Given the description of an element on the screen output the (x, y) to click on. 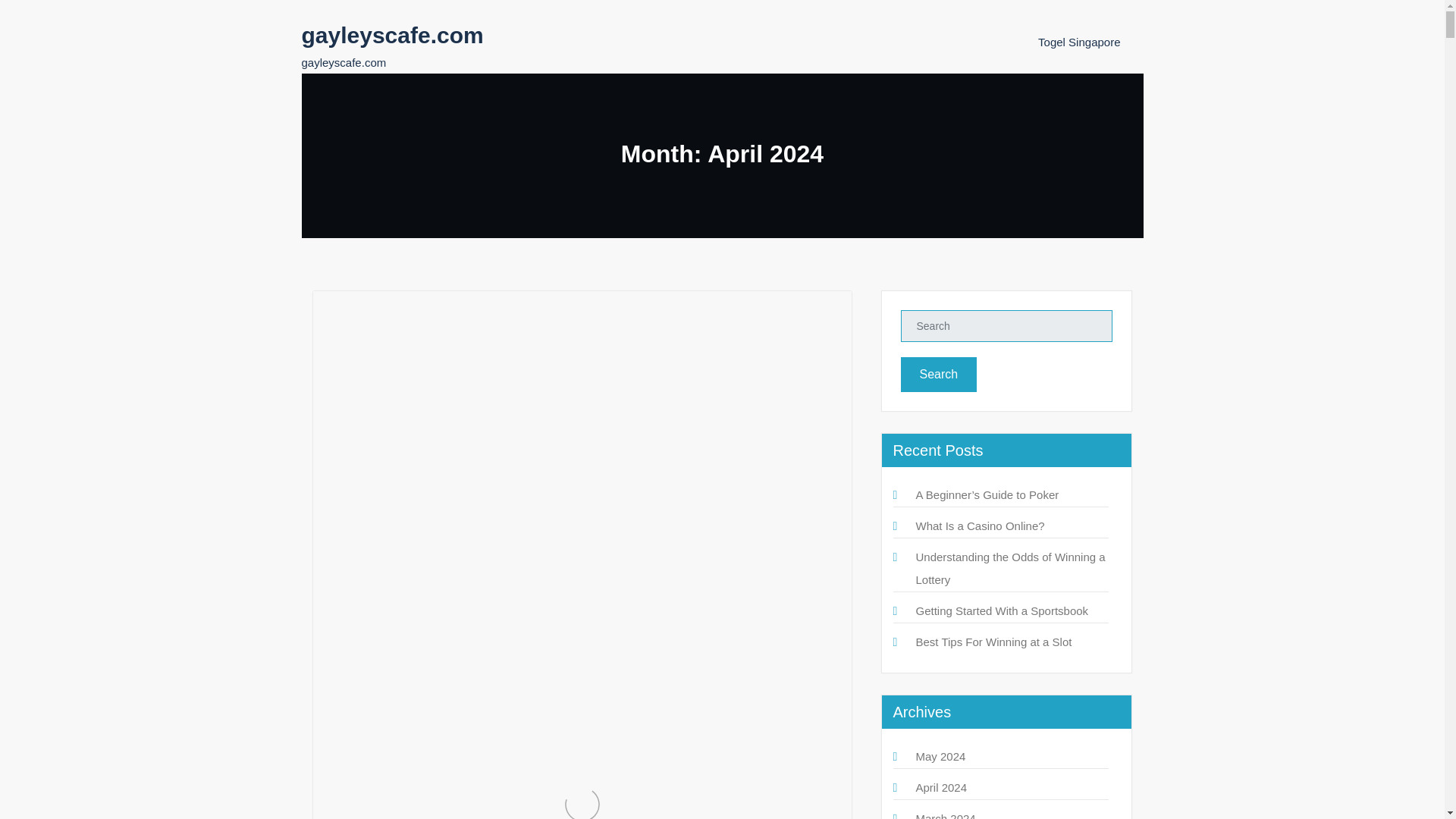
The Basics of Poker (396, 403)
Togel Singapore (1078, 41)
gayleyscafe (377, 364)
Gambling (459, 364)
gayleyscafe.com (392, 34)
